Given the description of an element on the screen output the (x, y) to click on. 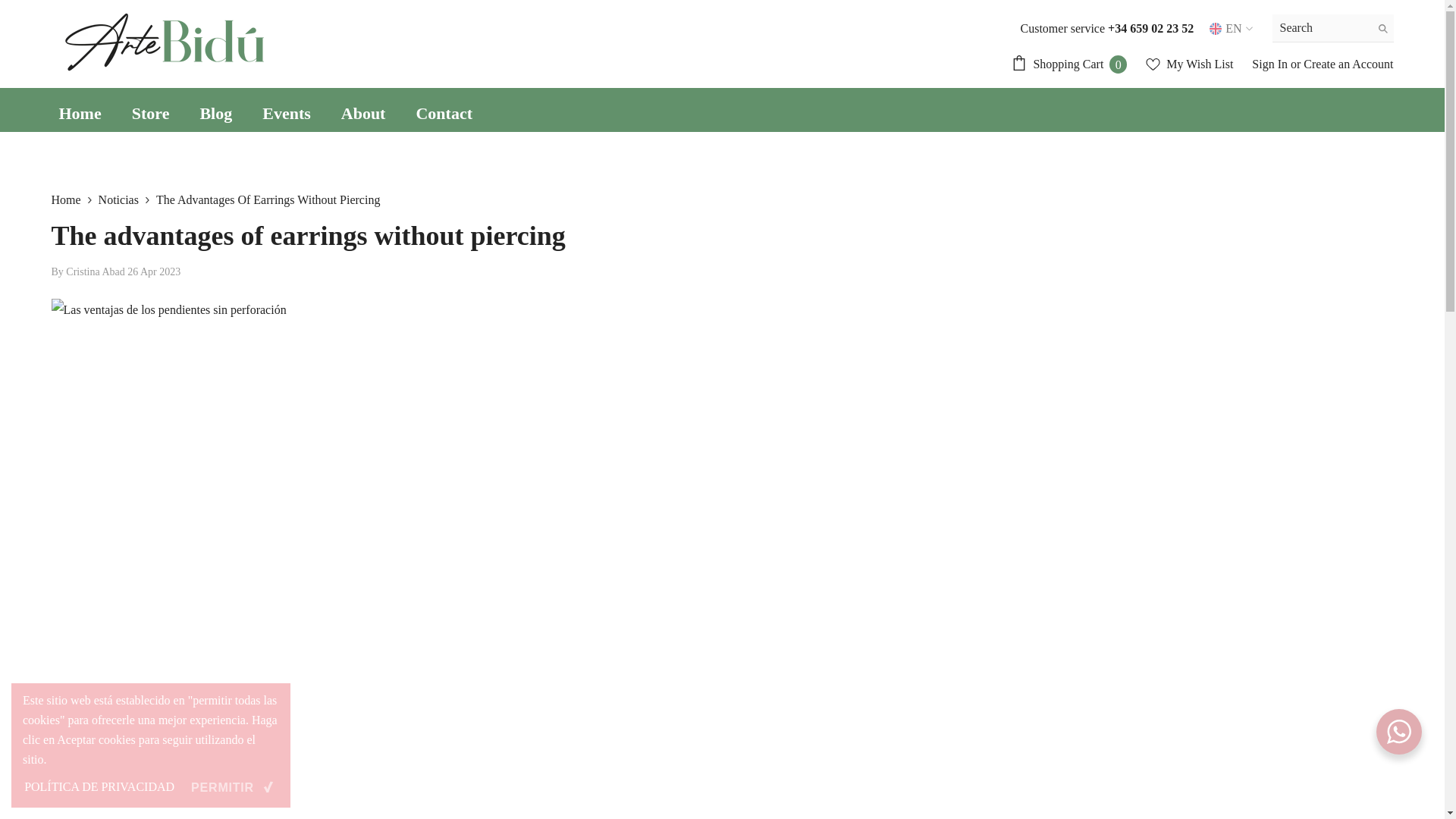
Blog (215, 113)
About (363, 113)
Sign In (1271, 63)
Home (79, 113)
Noticias (118, 199)
Events (286, 113)
Create an Account (1348, 63)
EN (1068, 63)
Permitir (1230, 28)
